Given the description of an element on the screen output the (x, y) to click on. 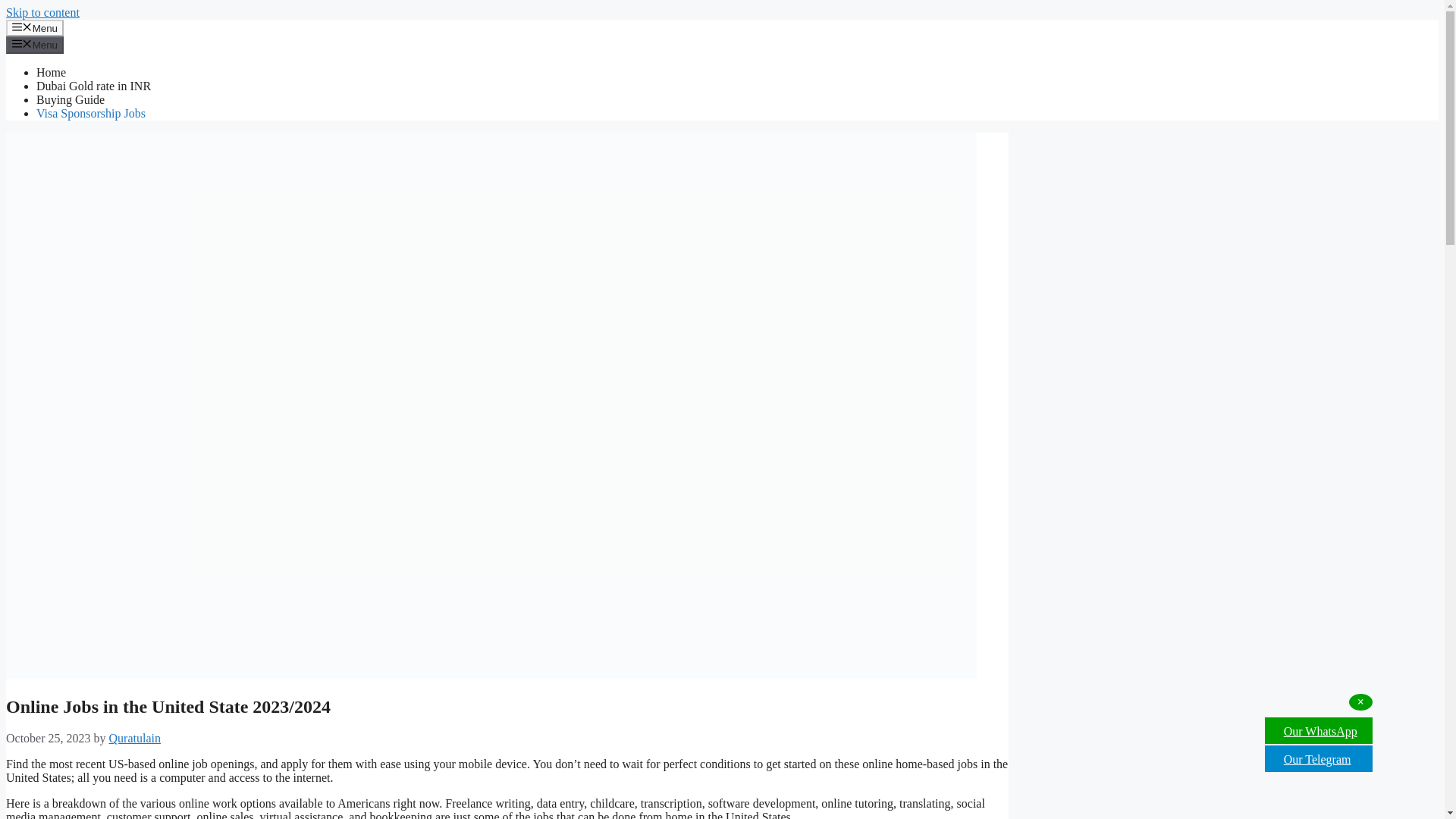
Quratulain (134, 738)
Menu (34, 27)
View all posts by Quratulain (134, 738)
Visa Sponsorship Jobs (90, 113)
Our WhatsApp (1317, 730)
Home (50, 72)
Buying Guide (70, 99)
Skip to content (42, 11)
Dubai Gold rate in INR (93, 85)
Skip to content (42, 11)
